Given the description of an element on the screen output the (x, y) to click on. 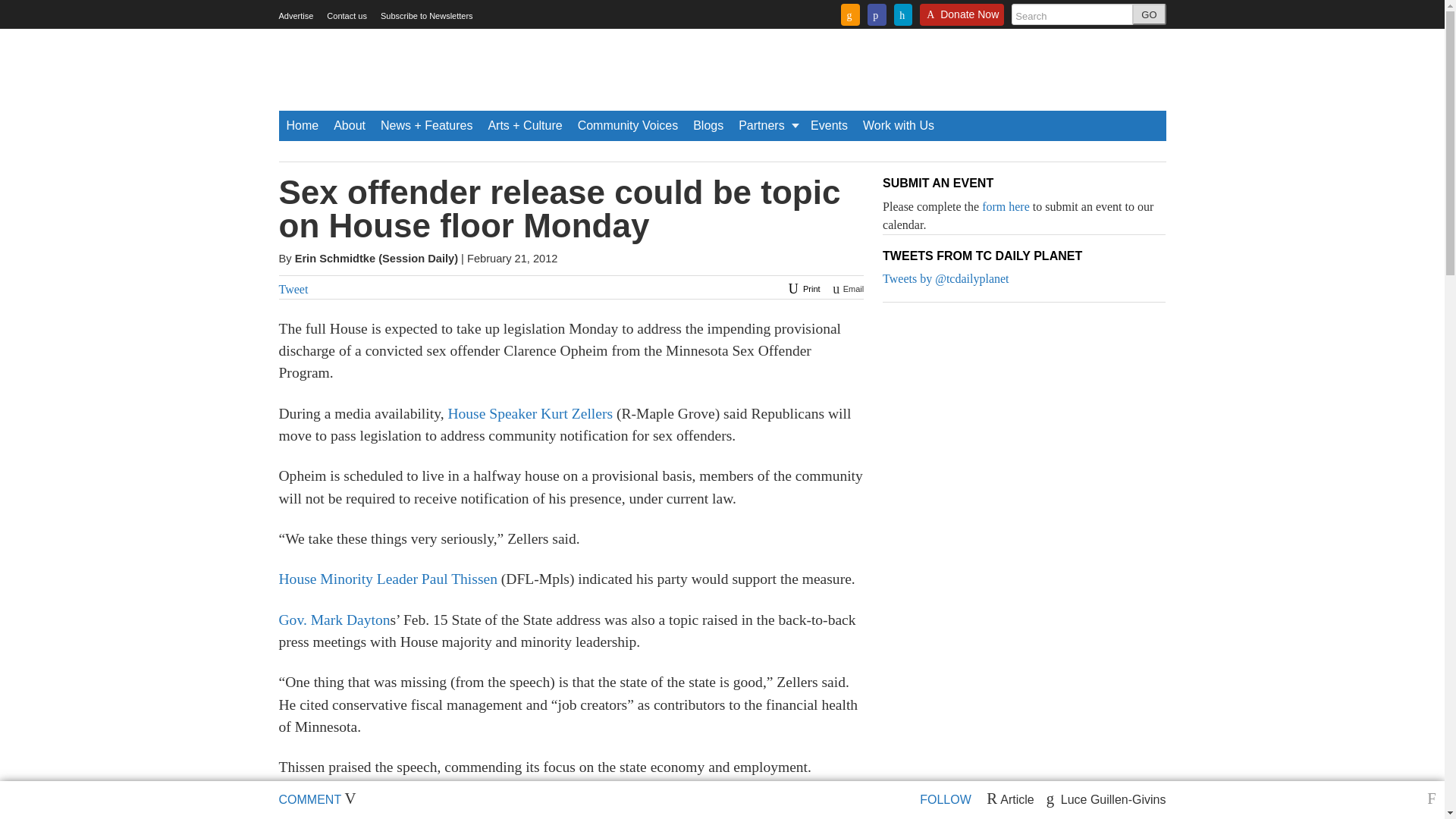
Contact us (346, 15)
Partners (766, 125)
Donate Now (962, 19)
Print (801, 288)
Tweet (293, 288)
Subscribe to Newsletters (426, 15)
Community Voices (627, 125)
House Minority Leader Paul Thissen (388, 578)
About (349, 125)
GO (1149, 14)
